Given the description of an element on the screen output the (x, y) to click on. 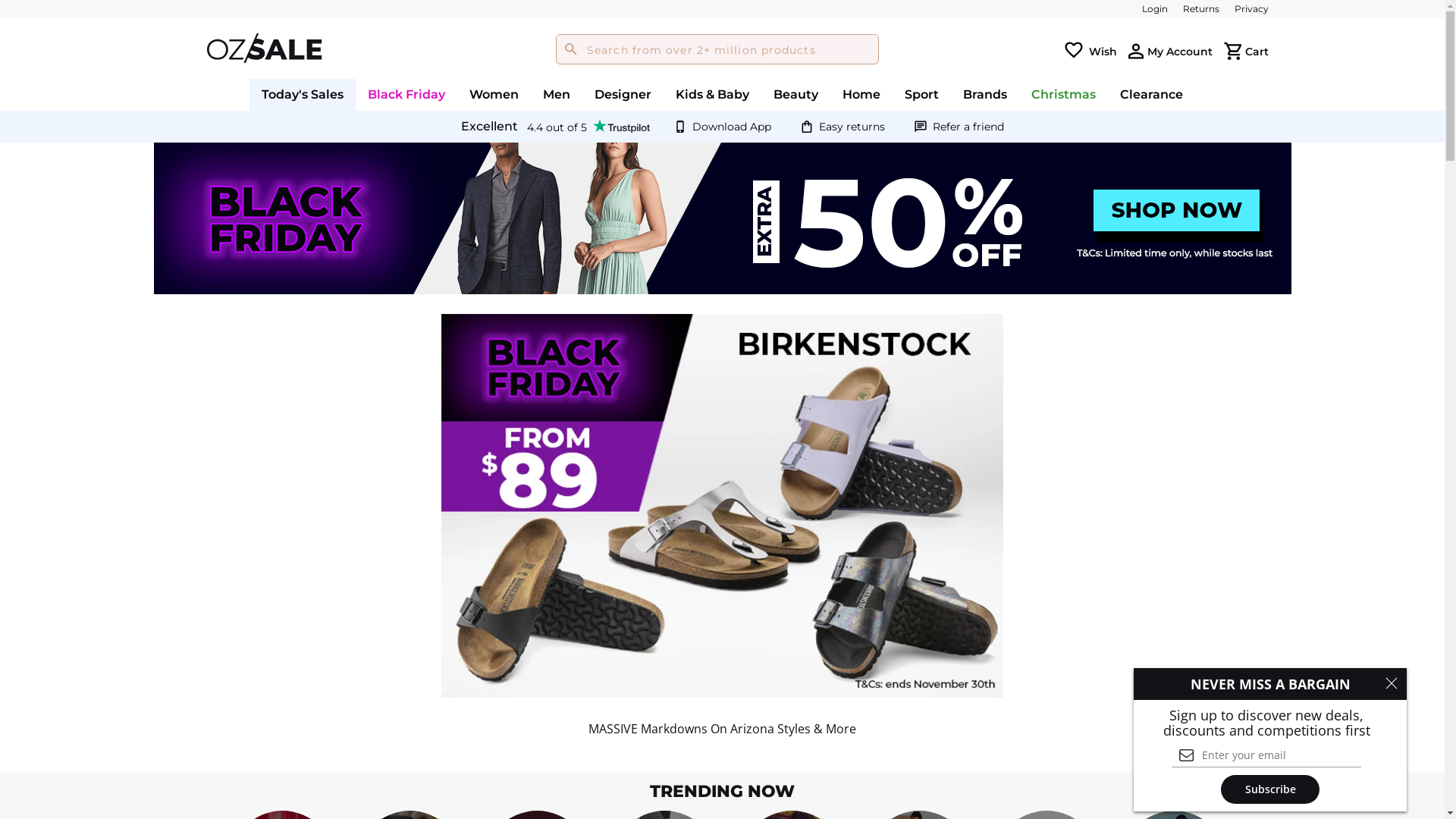
MASSIVE Markdowns On Arizona Styles & More Element type: text (722, 505)
Returns Element type: text (1201, 9)
Women Element type: text (493, 93)
Clearance Element type: text (1151, 93)
Designer Element type: text (622, 93)
Brands Element type: text (984, 93)
Men Element type: text (556, 93)
Beauty Element type: text (795, 93)
Privacy Element type: text (1251, 9)
  Element type: text (1135, 50)
My Account Element type: text (1178, 50)
Today's Sales Element type: text (302, 93)
Black Friday Element type: text (406, 93)
Christmas Element type: text (1063, 93)
Login Element type: text (1154, 9)
Easy returns Element type: text (851, 126)
Cart Element type: text (1256, 50)
Kids & Baby Element type: text (712, 93)
Customer reviews powered by Trustpilot Element type: hover (554, 126)
Download App Element type: text (730, 126)
Home Element type: text (861, 93)
Sport Element type: text (921, 93)
Refer a friend Element type: text (968, 126)
Wish Element type: text (1102, 50)
Subscribe Element type: text (1269, 789)
